Given the description of an element on the screen output the (x, y) to click on. 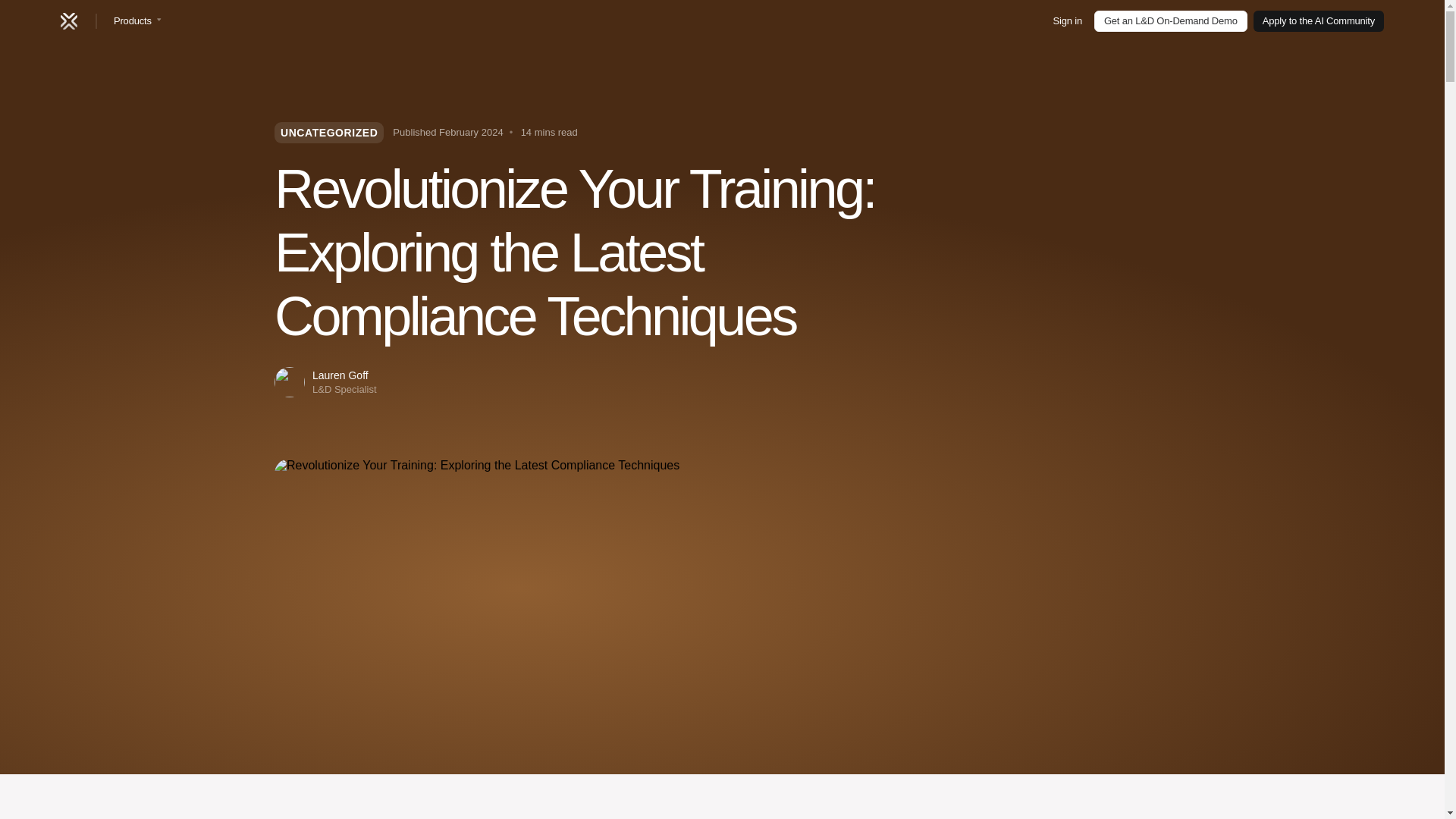
Apply to the AI Community (1318, 20)
Apply to the AI Community (1064, 541)
Twitter (1133, 694)
Sign in (1066, 20)
UNCATEGORIZED (329, 132)
LinkedIn (1062, 695)
Products (137, 20)
Facebook (1096, 695)
